Given the description of an element on the screen output the (x, y) to click on. 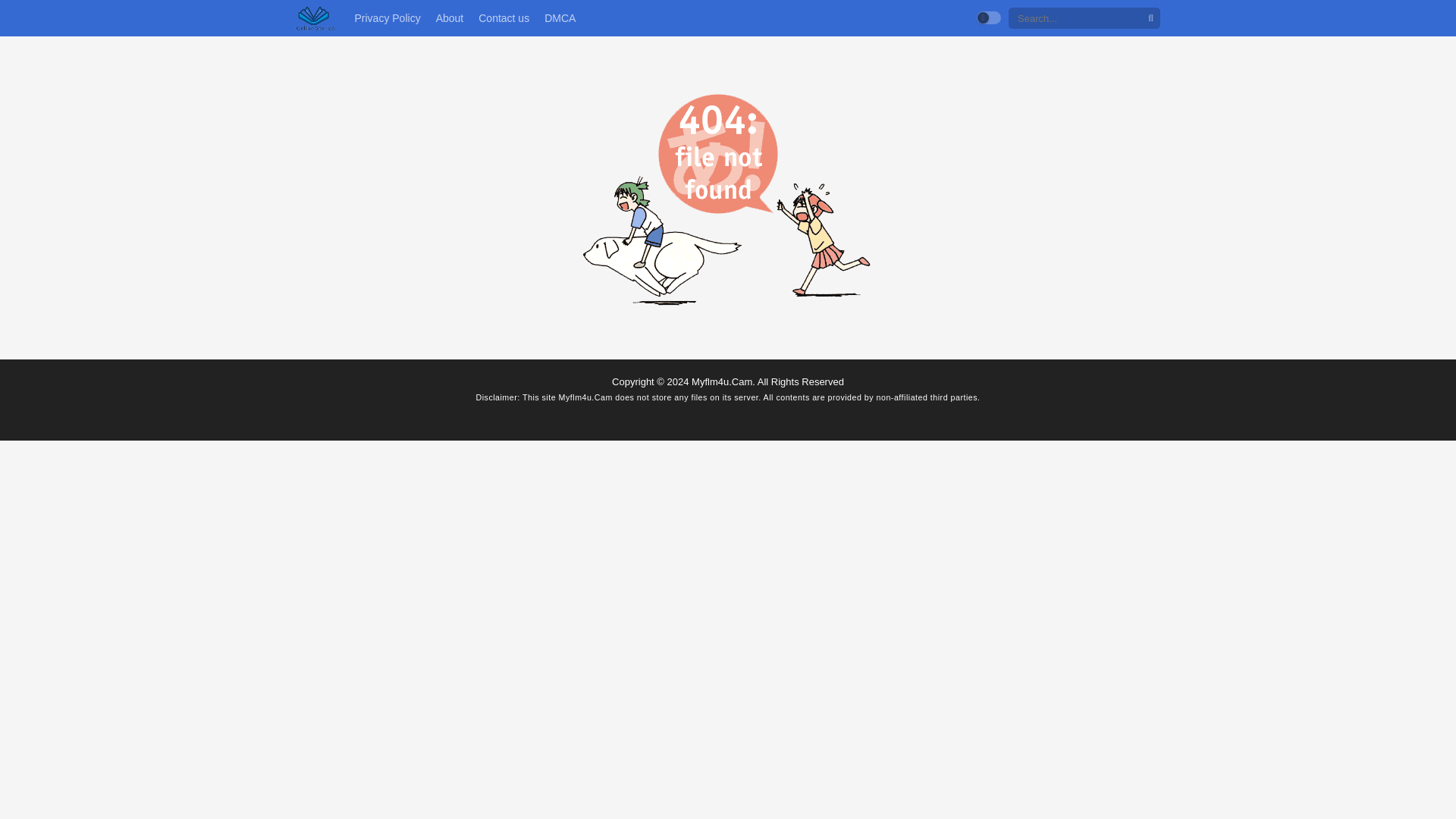
Myflm4u.Cam - Stories Reading Hub (315, 17)
DMCA (559, 18)
Privacy Policy (386, 18)
Contact us (503, 18)
About (449, 18)
